Given the description of an element on the screen output the (x, y) to click on. 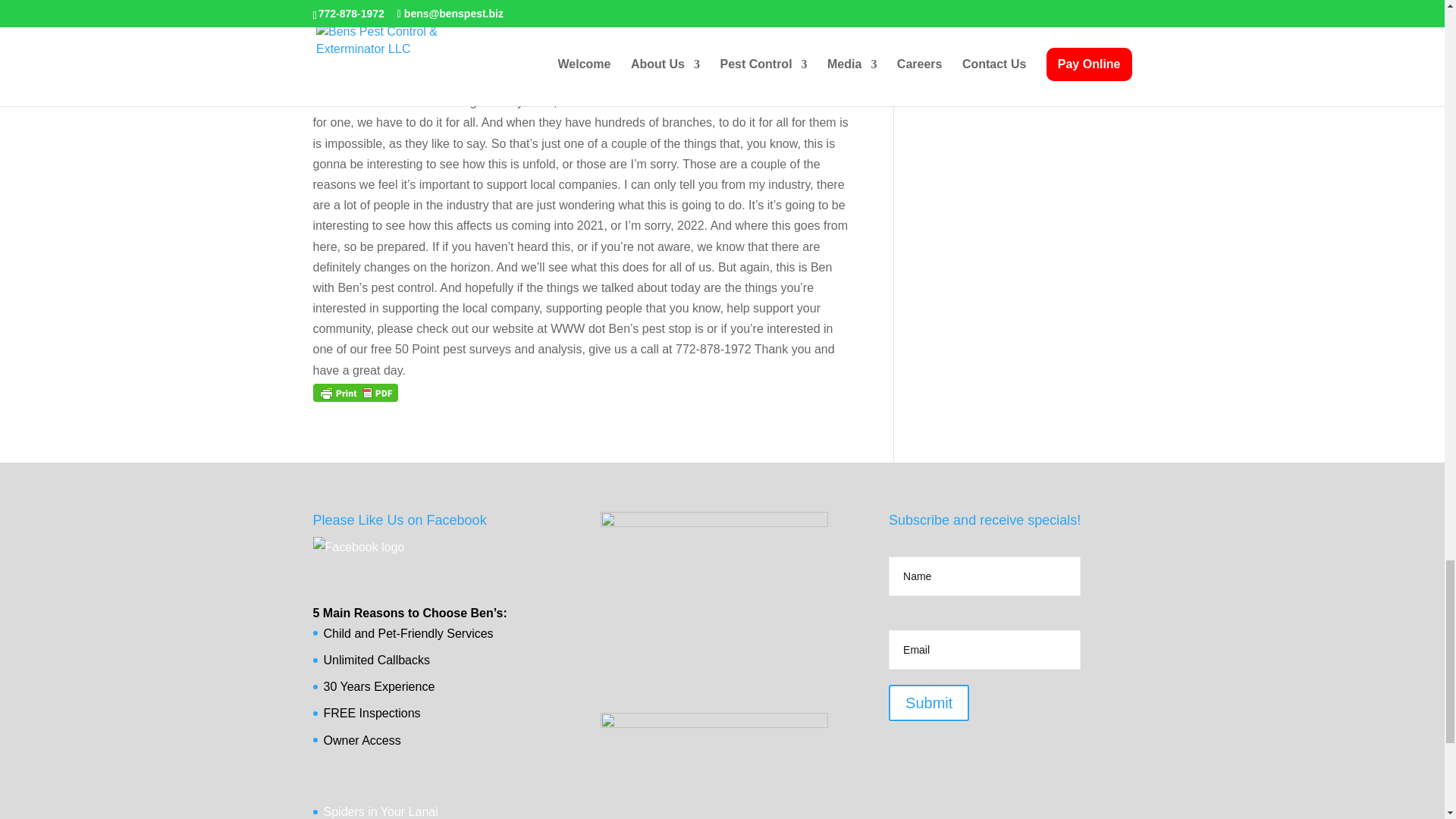
Spiders in Your Lanai (380, 811)
